Given the description of an element on the screen output the (x, y) to click on. 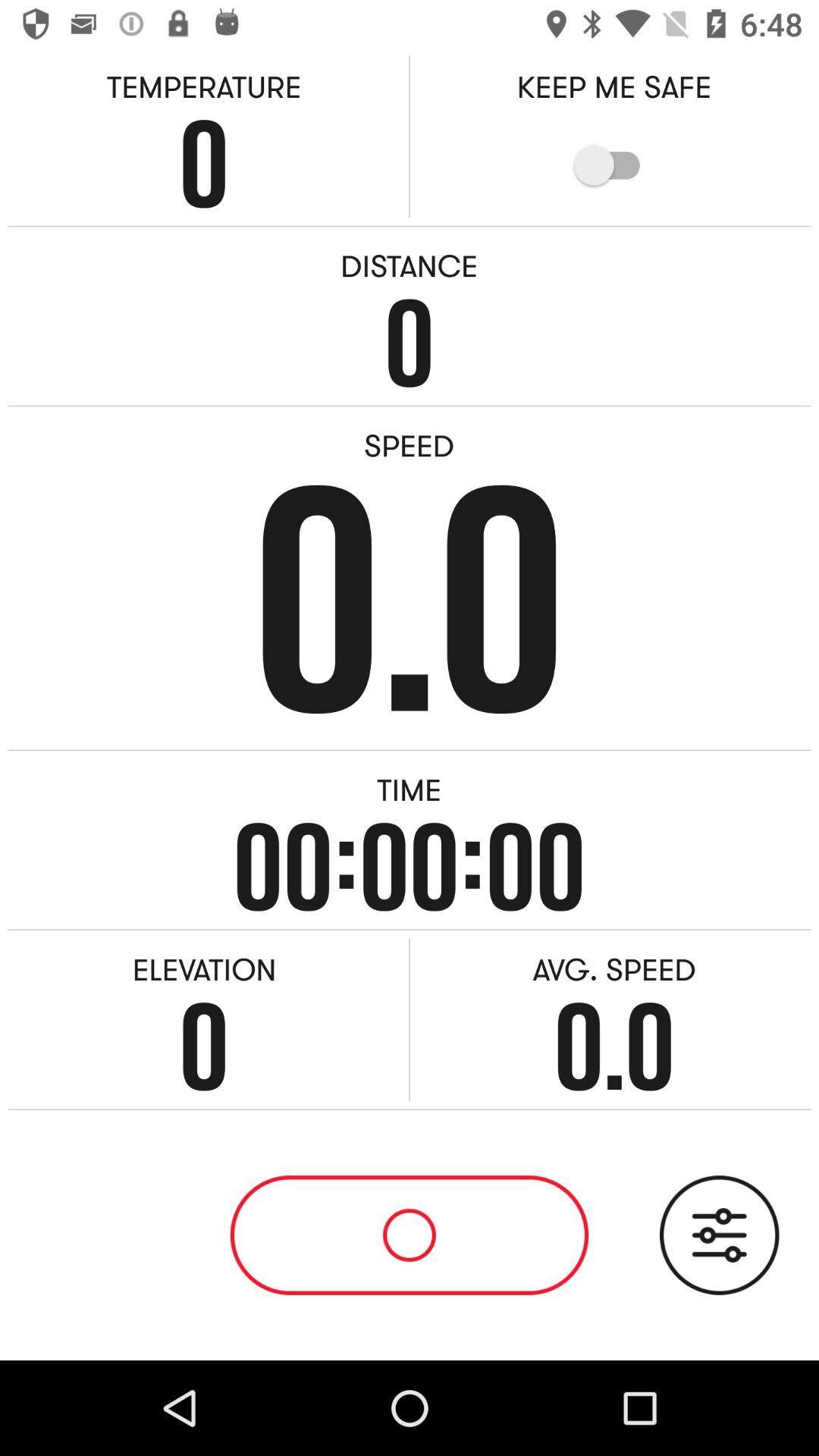
click the button on left to the adjustment icon on the web page (409, 1234)
